Given the description of an element on the screen output the (x, y) to click on. 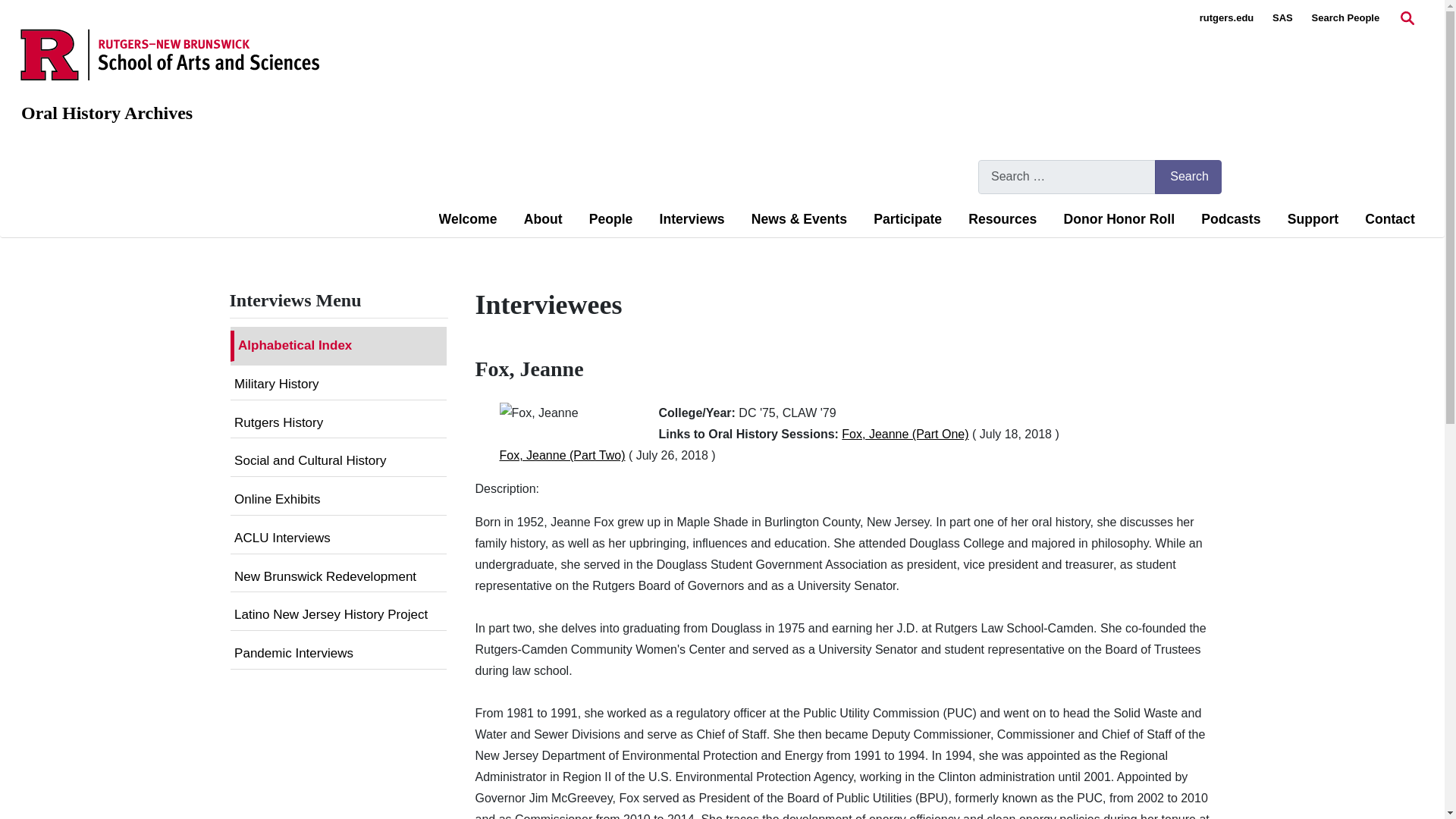
About (543, 219)
Search People (1345, 17)
Welcome (468, 219)
Oral History Archives (106, 112)
Participate (907, 219)
Search (1187, 176)
Interviews (692, 219)
rutgers.edu (1226, 17)
Resources (1002, 219)
Donor Honor Roll (1118, 219)
